Given the description of an element on the screen output the (x, y) to click on. 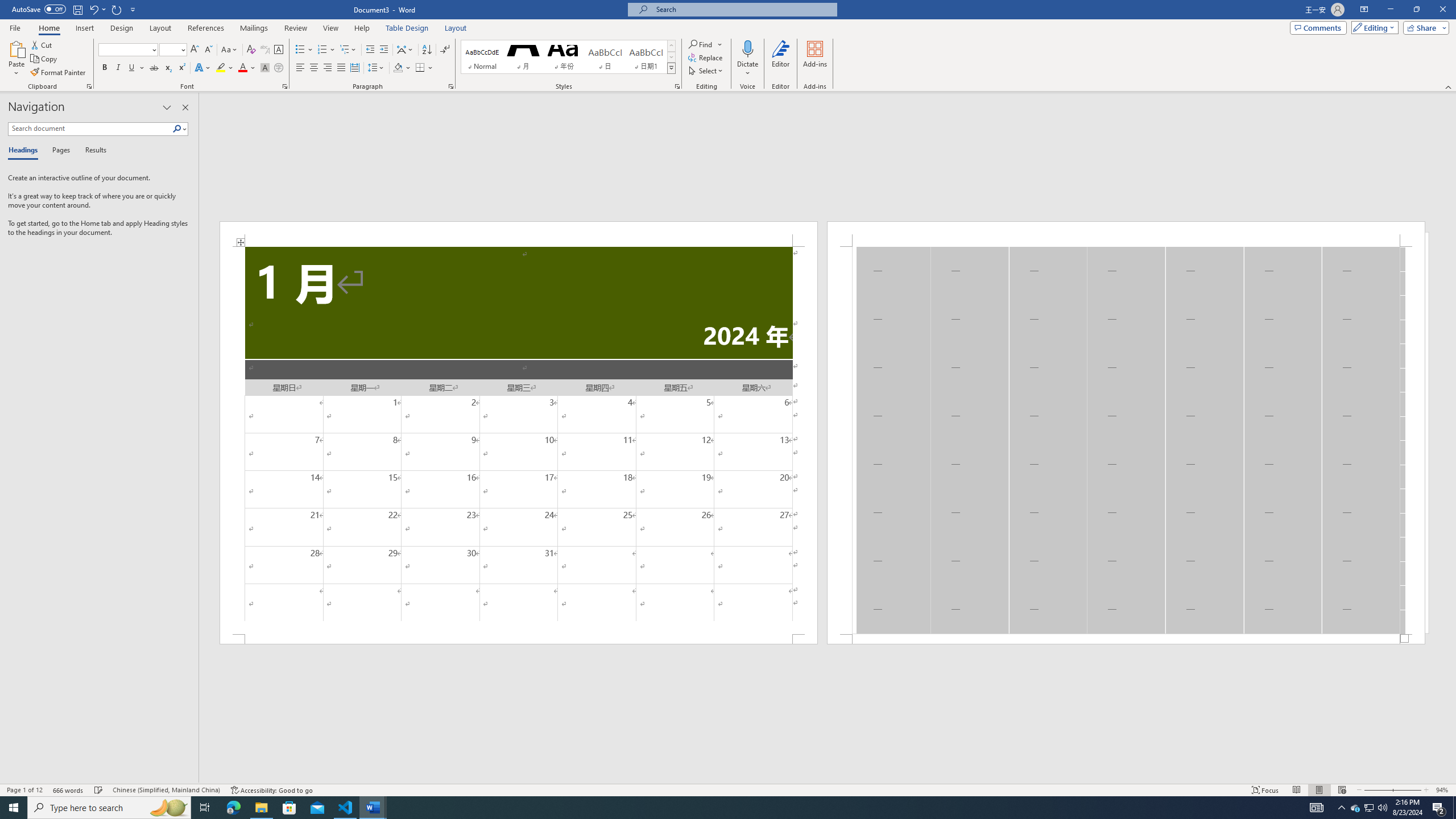
Asian Layout (405, 49)
Strikethrough (154, 67)
Layout (455, 28)
Page Number Page 1 of 12 (24, 790)
Center (313, 67)
Insert (83, 28)
Font Color (246, 67)
Read Mode (1296, 790)
Font... (285, 85)
Decrease Indent (370, 49)
Page 2 content (1126, 439)
